Given the description of an element on the screen output the (x, y) to click on. 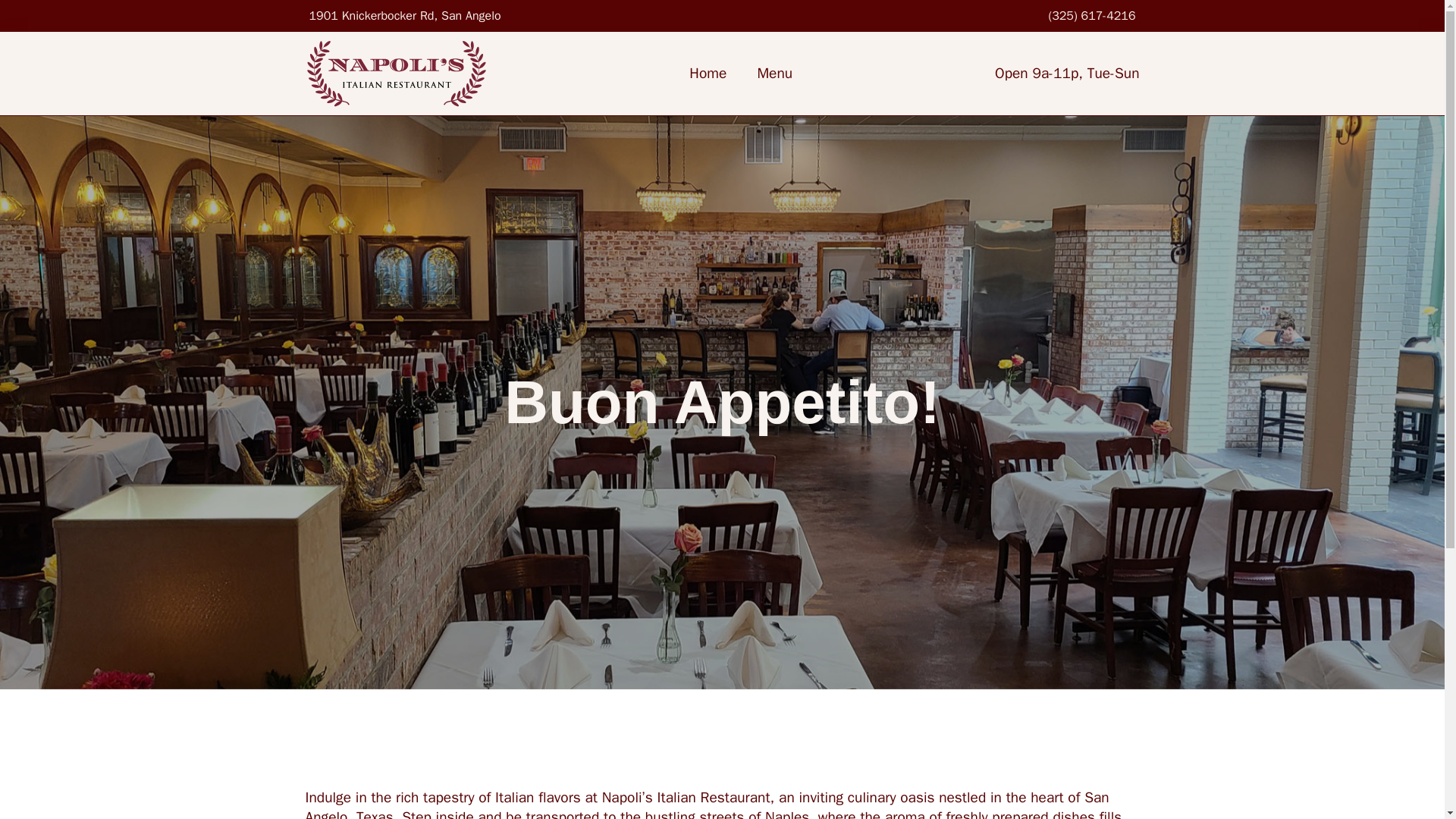
Napoli's Italian Restaurant (395, 73)
Home (707, 74)
Menu (774, 74)
